Given the description of an element on the screen output the (x, y) to click on. 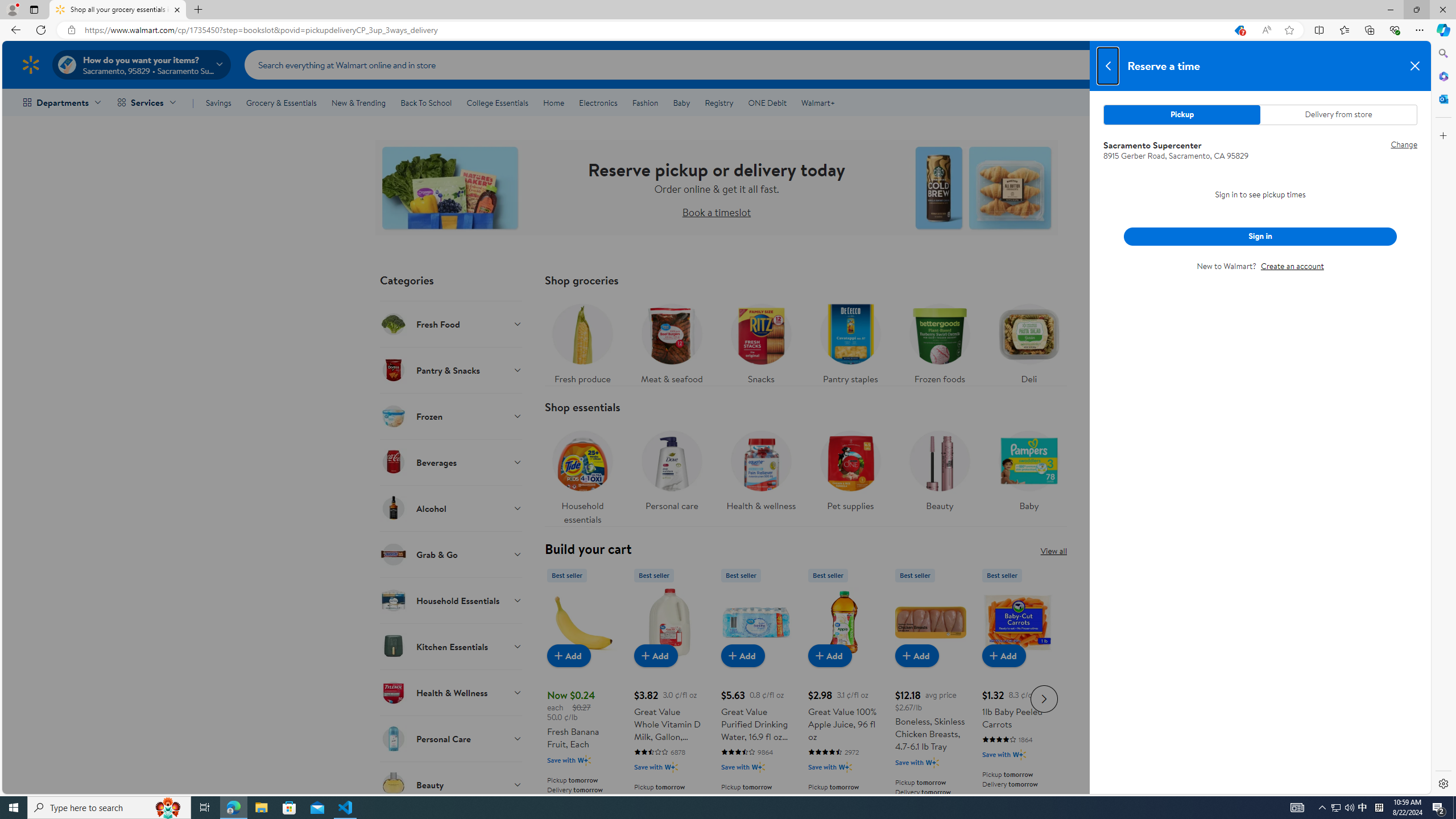
Back To School (425, 102)
1lb Baby Peeled Carrots (1017, 621)
Household essentials (582, 473)
Fashion (644, 102)
Meat & seafood (671, 340)
Baby (1029, 473)
Sign in (1260, 235)
